Given the description of an element on the screen output the (x, y) to click on. 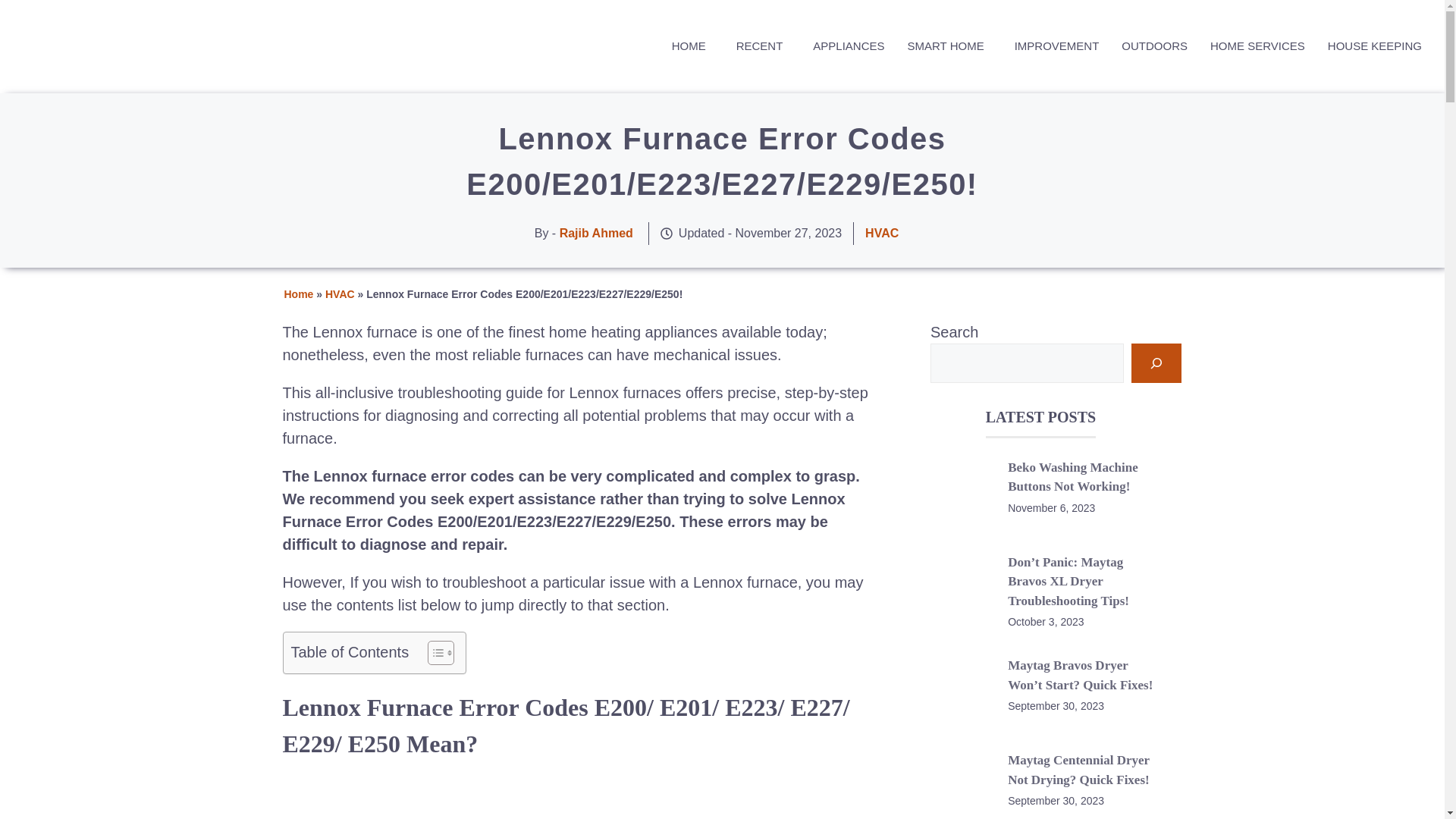
HOME SERVICES (1254, 46)
HVAC (339, 294)
HOME (688, 46)
IMPROVEMENT (1052, 46)
HOUSE KEEPING (1371, 46)
Home (298, 294)
OUTDOORS (1150, 46)
APPLIANCES (844, 46)
HVAC (881, 232)
SMART HOME (945, 46)
